Given the description of an element on the screen output the (x, y) to click on. 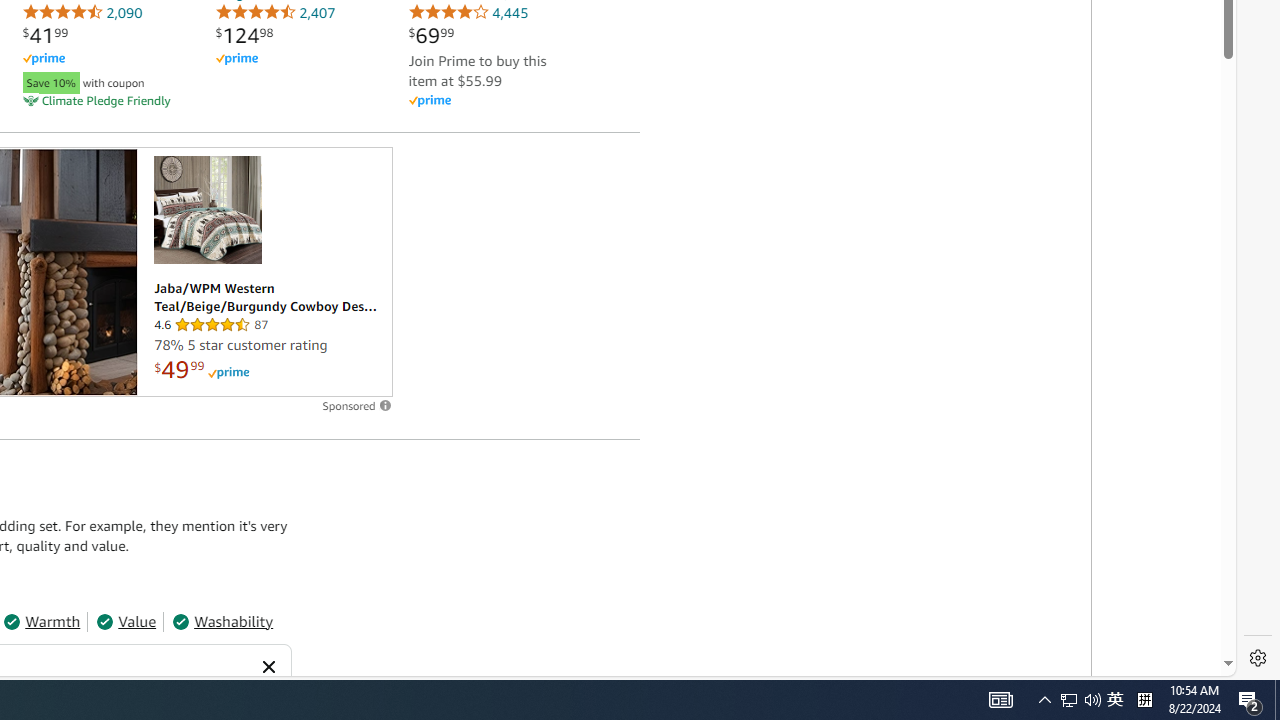
$124.98 (244, 35)
Warmth (41, 621)
Amazon Prime (488, 100)
2,407 (275, 12)
2,090 (82, 12)
Value (126, 621)
Amazon Prime (429, 101)
Prime (228, 371)
Join Prime to buy this item at $55.99 (477, 70)
4,445 (468, 12)
$69.99 (431, 35)
